Given the description of an element on the screen output the (x, y) to click on. 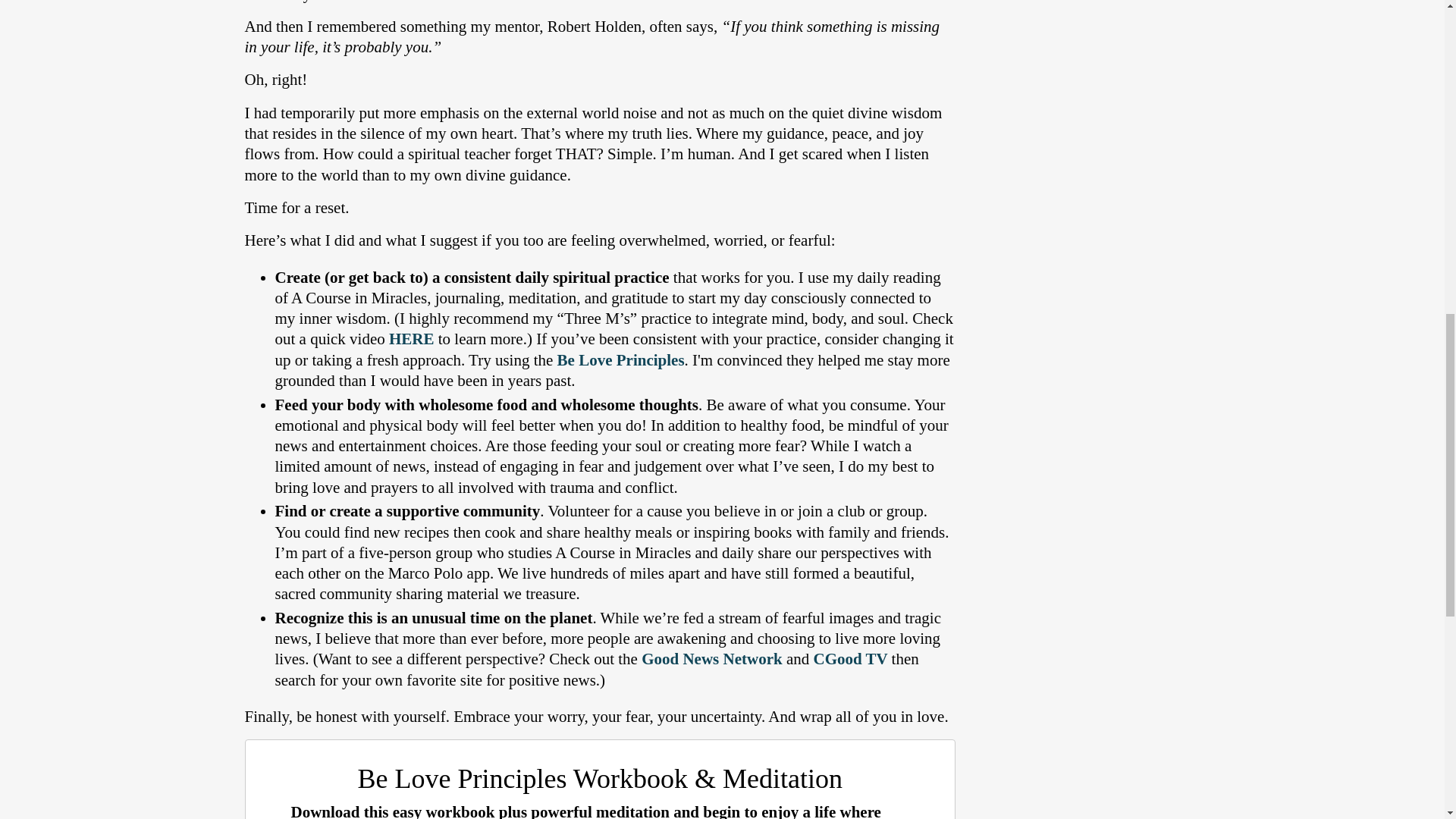
CGood TV (849, 659)
Good News Network (711, 659)
HERE (410, 339)
Be Love Principles (620, 360)
